Given the description of an element on the screen output the (x, y) to click on. 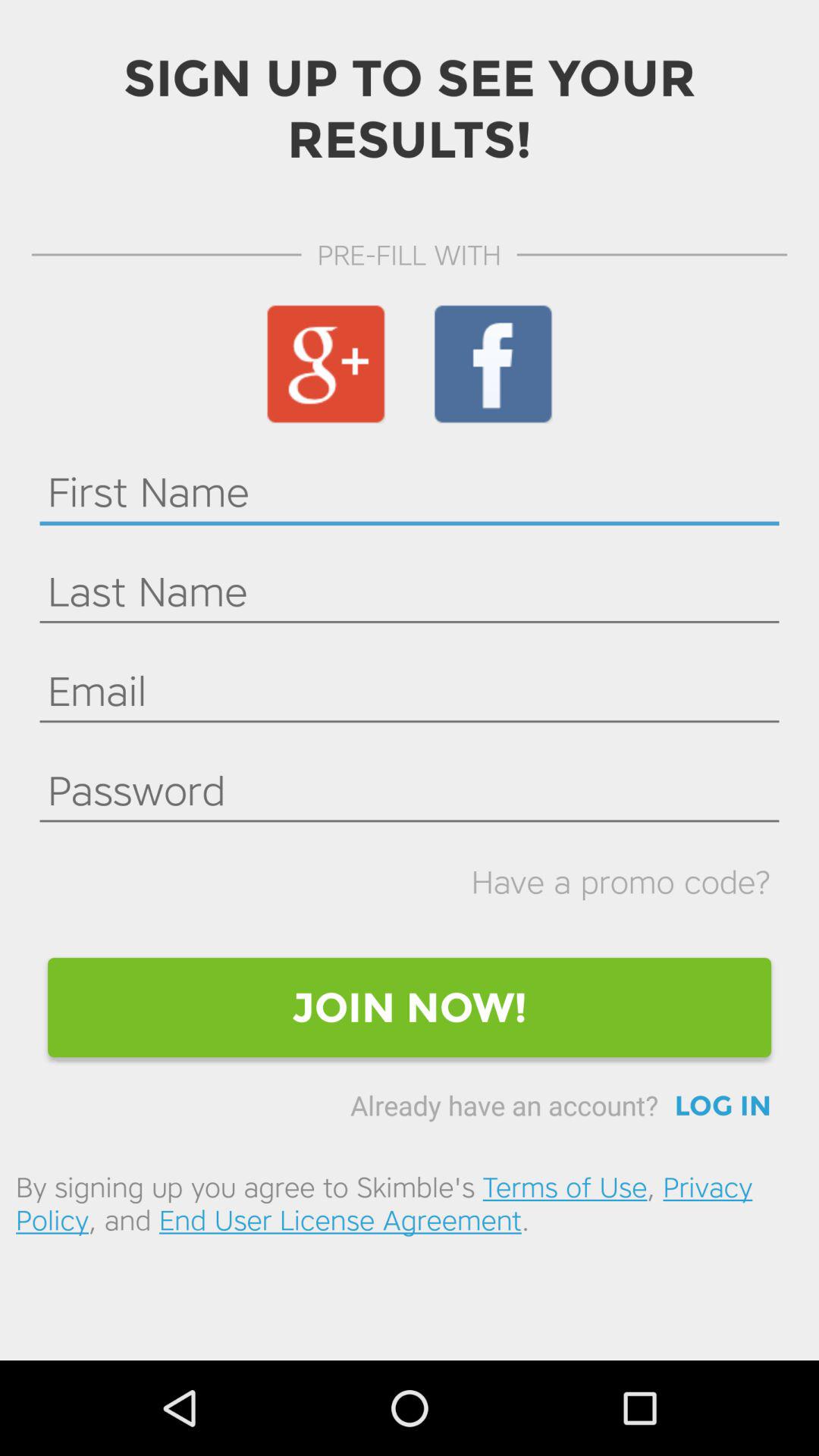
launch the icon above by signing up icon (722, 1105)
